Given the description of an element on the screen output the (x, y) to click on. 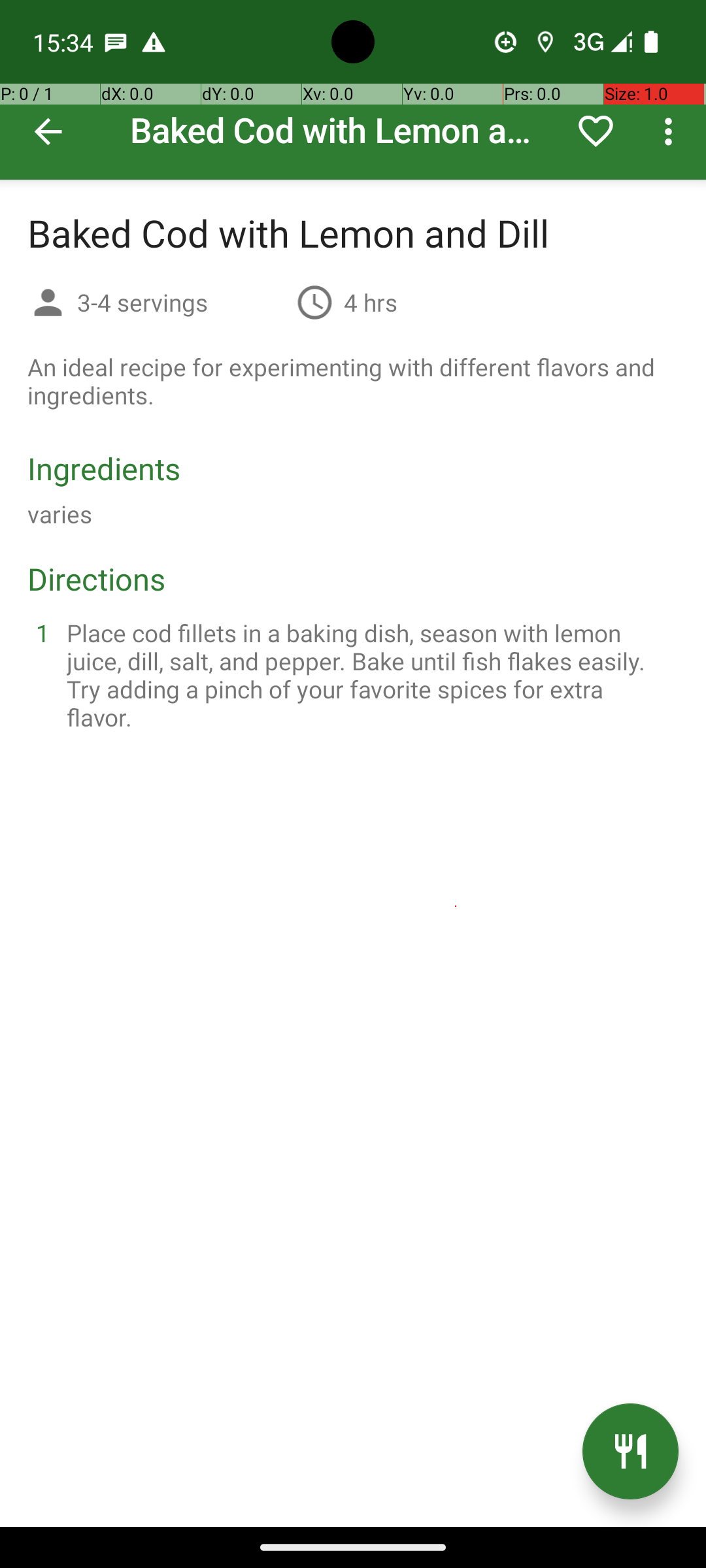
Baked Cod with Lemon and Dill Element type: android.widget.FrameLayout (353, 89)
Mark as favorite Element type: android.widget.Button (595, 131)
3-4 servings Element type: android.widget.TextView (181, 301)
4 hrs Element type: android.widget.TextView (370, 301)
varies Element type: android.widget.TextView (59, 513)
Place cod fillets in a baking dish, season with lemon juice, dill, salt, and pepper. Bake until fish flakes easily. Try adding a pinch of your favorite spices for extra flavor. Element type: android.widget.TextView (368, 674)
